Given the description of an element on the screen output the (x, y) to click on. 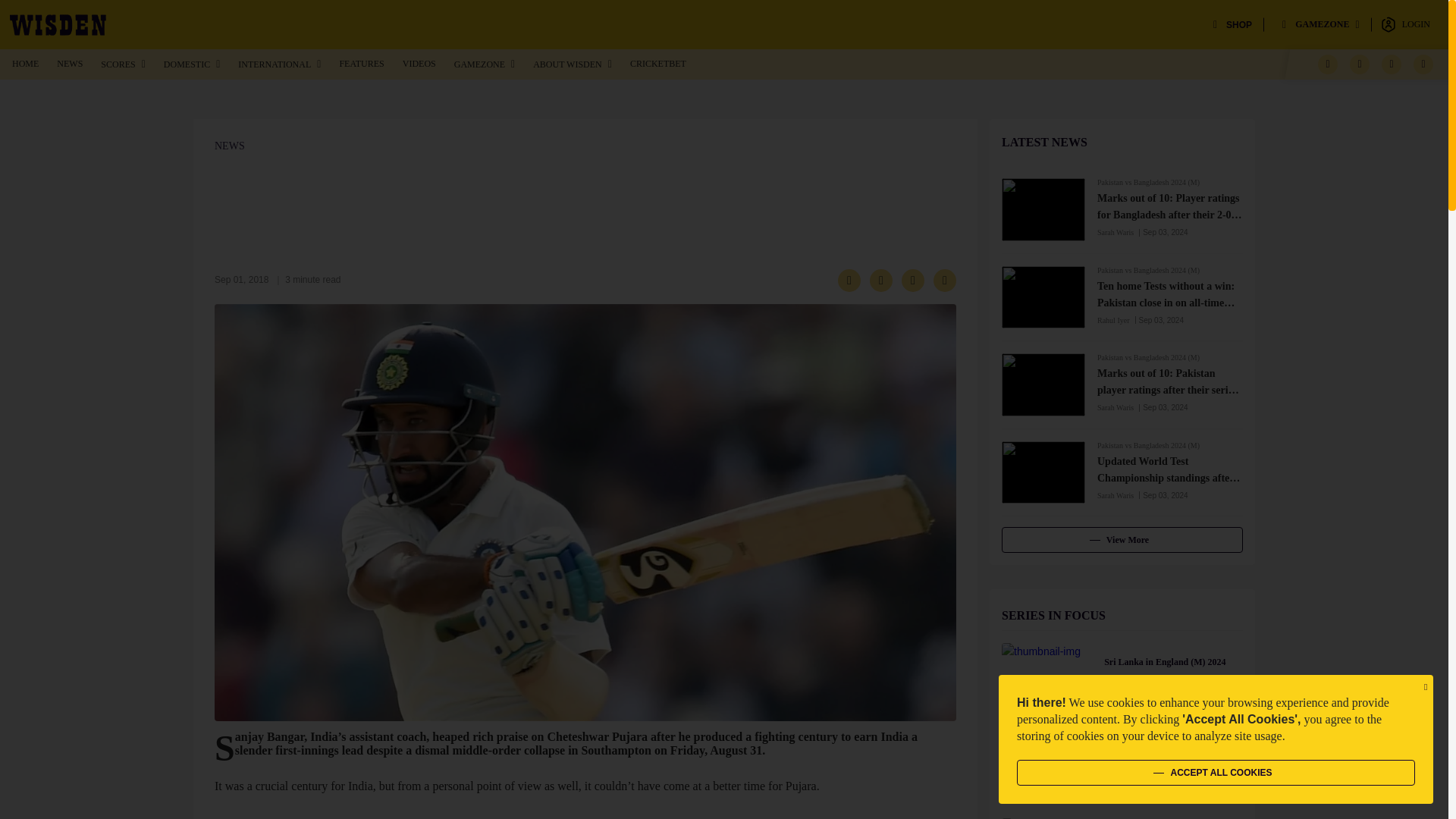
Wisden (57, 24)
SCORES (122, 63)
Shop (1232, 24)
GAMEZONE (484, 63)
View More (1122, 539)
LOGIN (1405, 24)
SHOP (1232, 24)
CRICKETBET (657, 62)
GAMEZONE (1320, 24)
ABOUT WISDEN (571, 63)
